Given the description of an element on the screen output the (x, y) to click on. 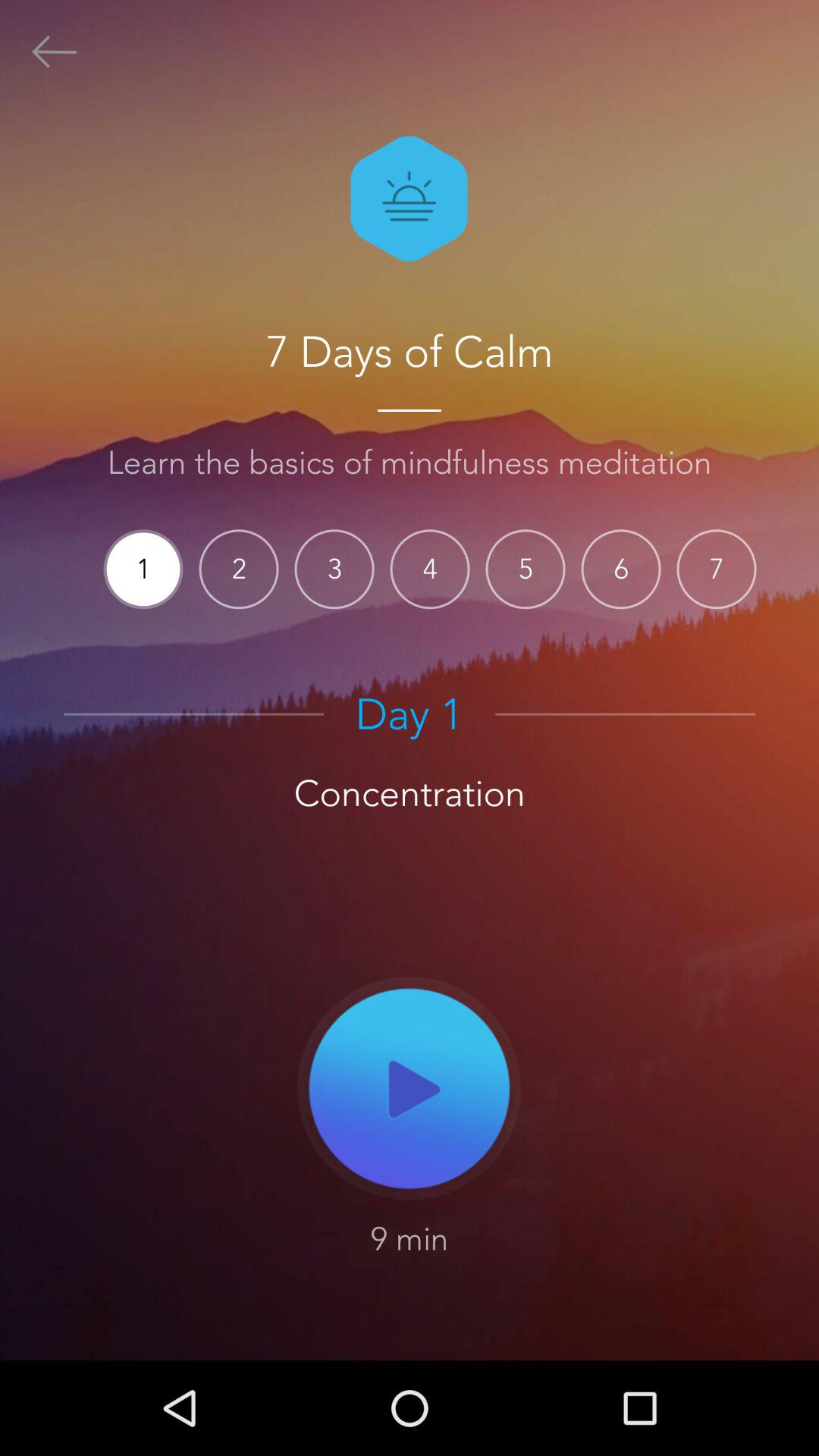
go back (54, 51)
